Given the description of an element on the screen output the (x, y) to click on. 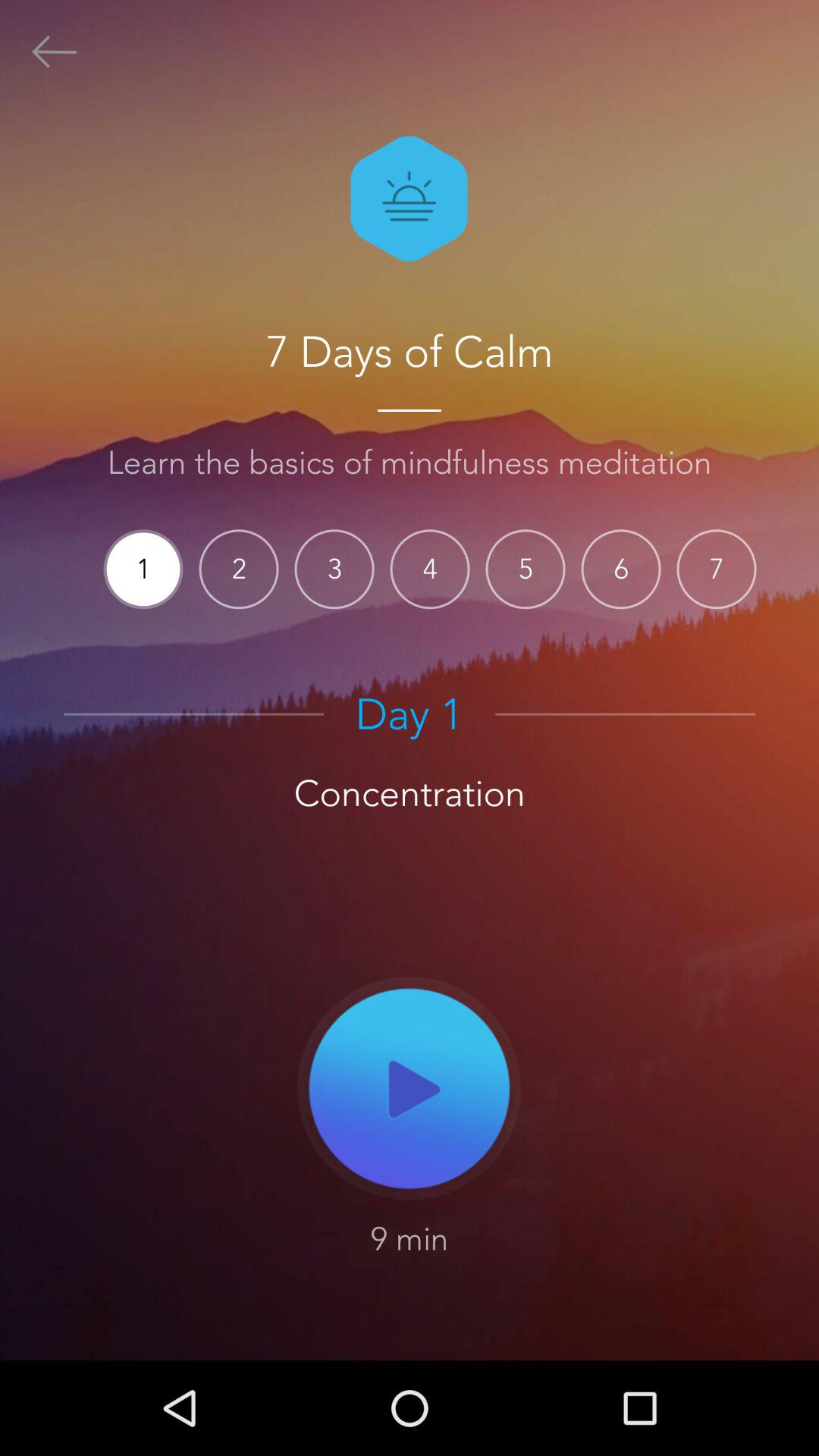
go back (54, 51)
